Given the description of an element on the screen output the (x, y) to click on. 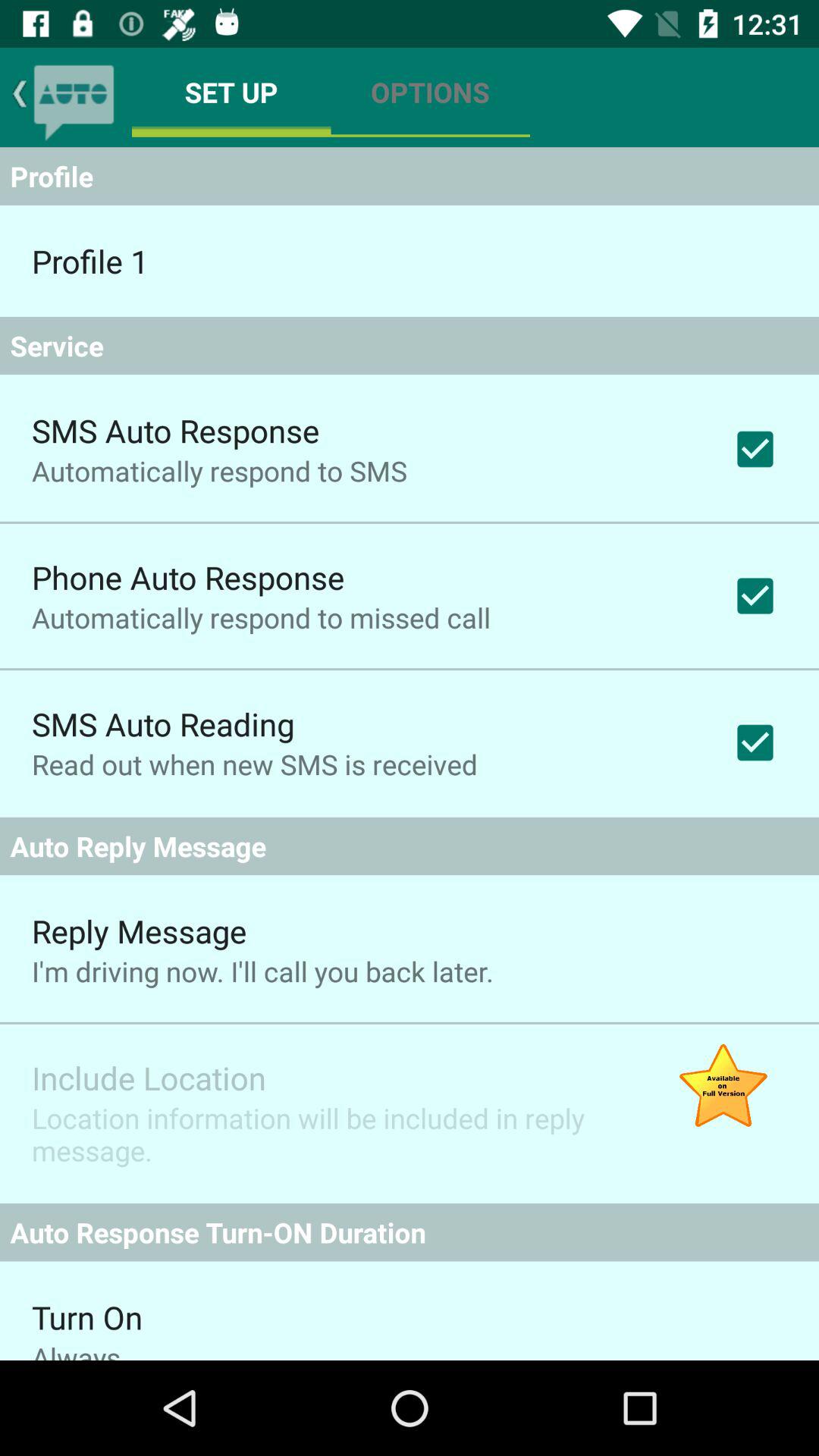
open app below include location (329, 1134)
